Given the description of an element on the screen output the (x, y) to click on. 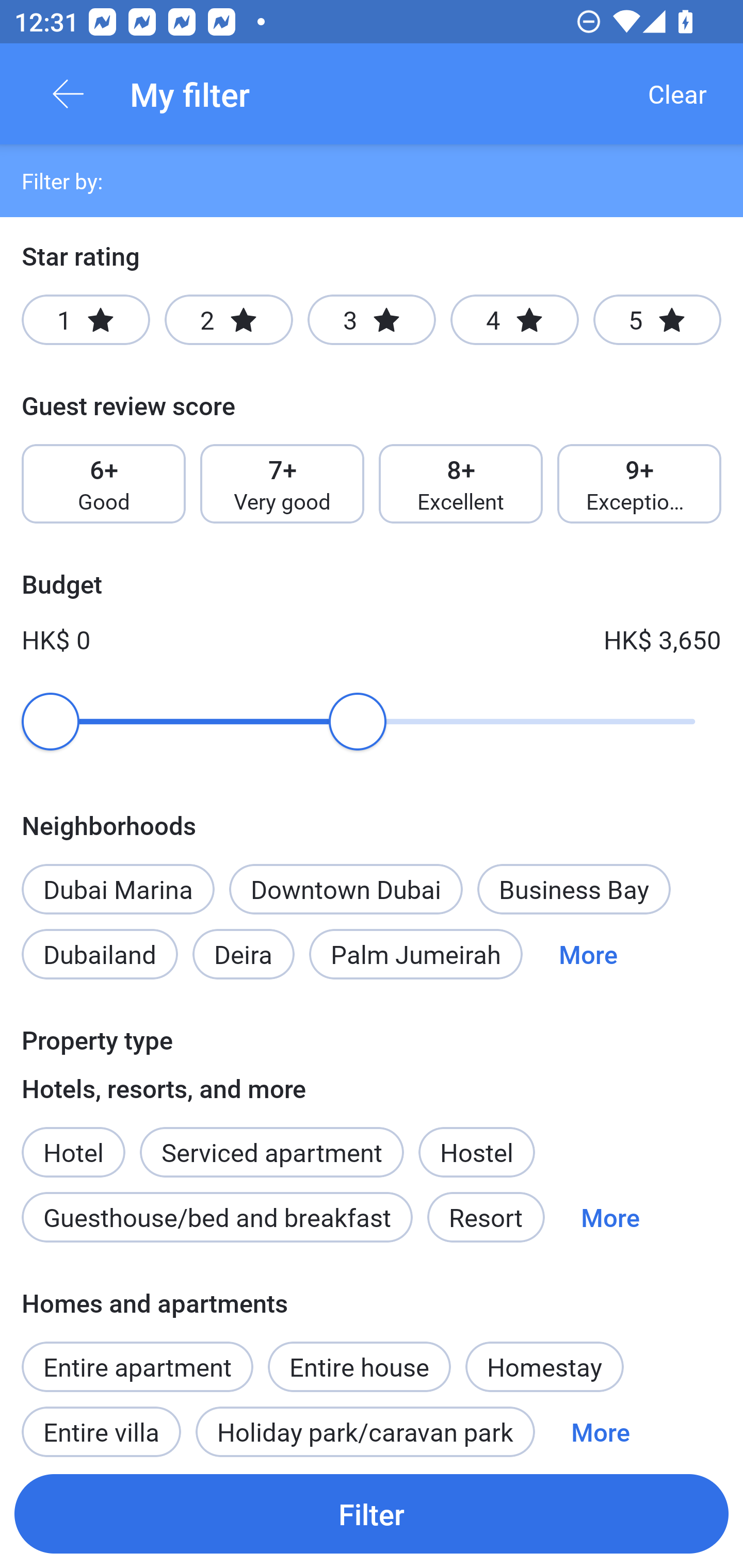
Clear (676, 93)
1 (85, 319)
2 (228, 319)
3 (371, 319)
4 (514, 319)
5 (657, 319)
6+ Good (103, 483)
7+ Very good (281, 483)
8+ Excellent (460, 483)
9+ Exceptional (639, 483)
Dubai Marina (117, 888)
Downtown Dubai (345, 888)
Business Bay (573, 888)
Dubailand (99, 954)
Deira (243, 954)
Palm Jumeirah (415, 954)
More (587, 954)
Hotel (73, 1141)
Serviced apartment (271, 1141)
Hostel (476, 1151)
Guesthouse/bed and breakfast (217, 1217)
Resort (485, 1217)
More (610, 1217)
Entire apartment (137, 1366)
Entire house (359, 1356)
Homestay (544, 1366)
Entire villa (101, 1424)
Holiday park/caravan park (364, 1424)
More (600, 1424)
Filter (371, 1513)
